Given the description of an element on the screen output the (x, y) to click on. 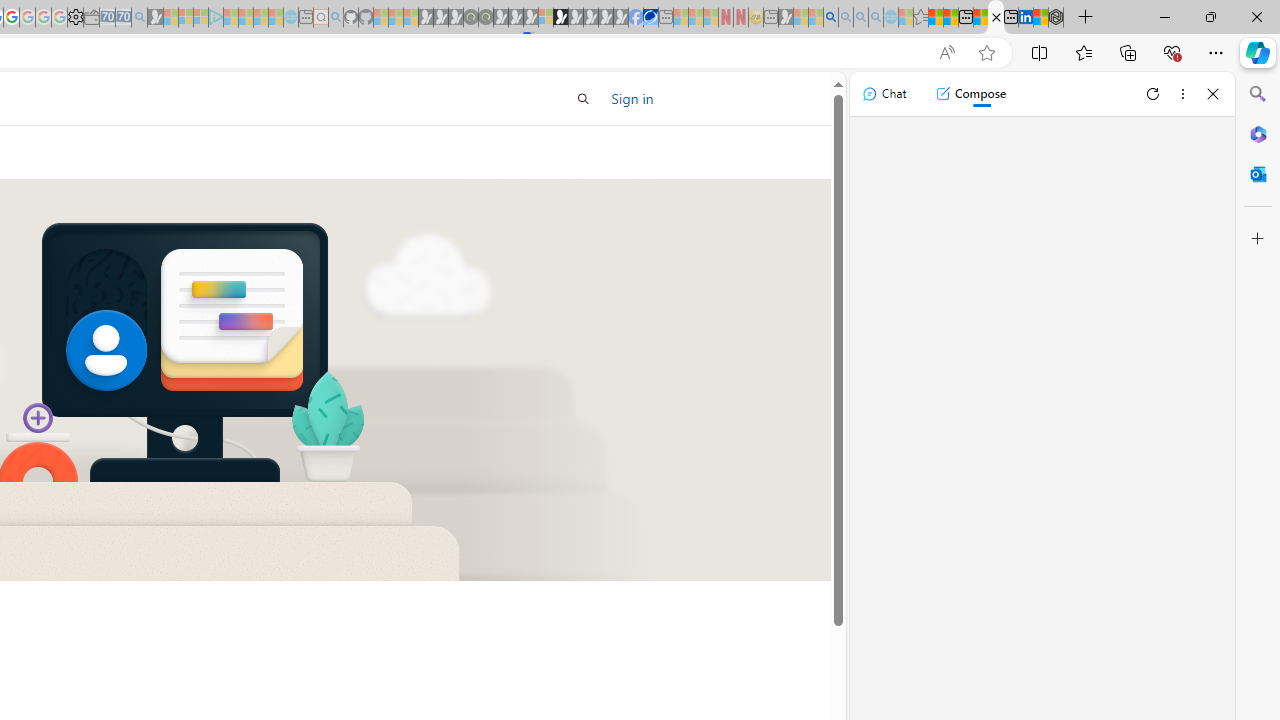
LinkedIn (1025, 17)
github - Search - Sleeping (336, 17)
Open search (583, 97)
Microsoft Start - Sleeping (260, 17)
